Given the description of an element on the screen output the (x, y) to click on. 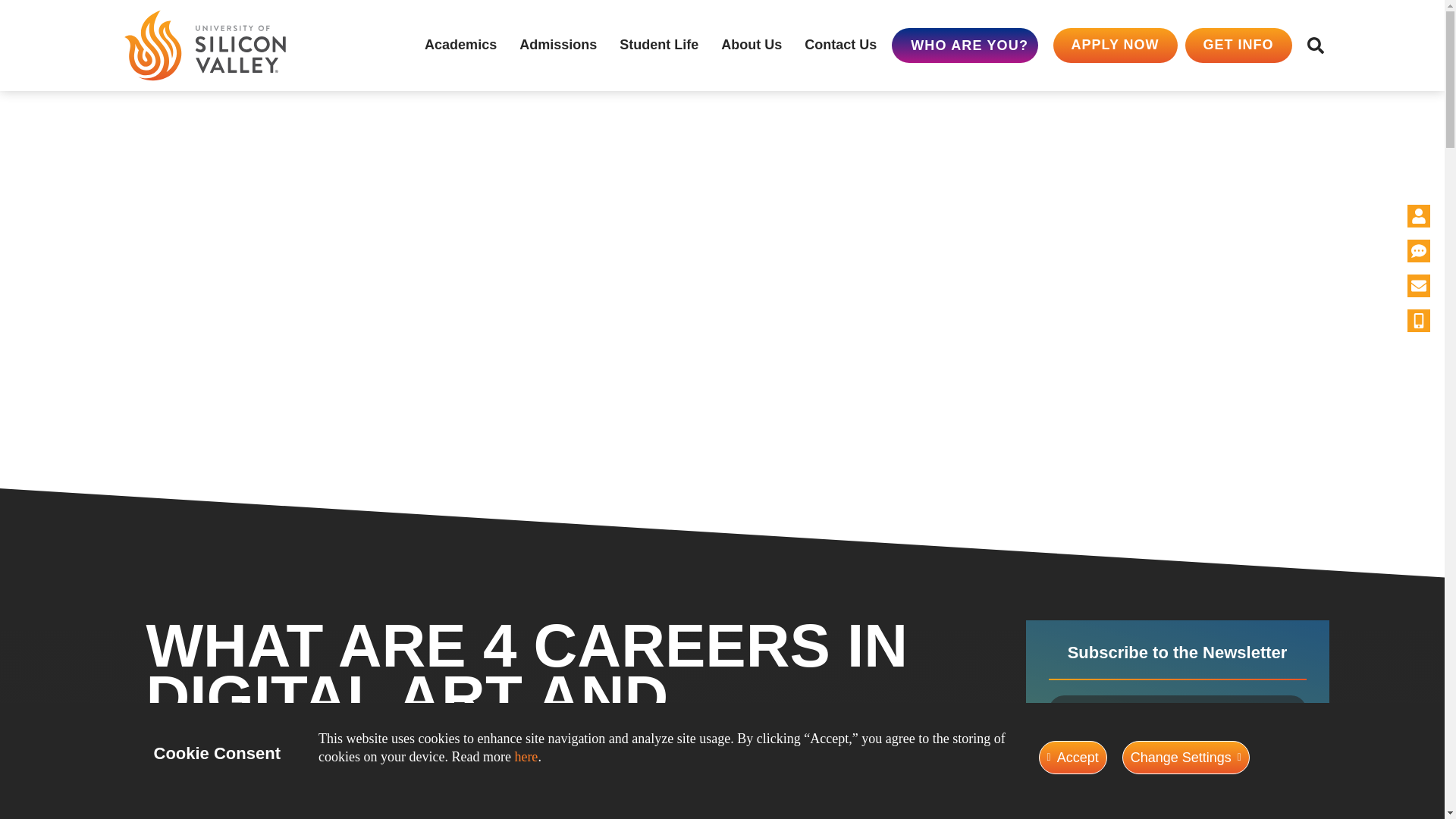
Admissions (557, 45)
Academics (460, 45)
